Given the description of an element on the screen output the (x, y) to click on. 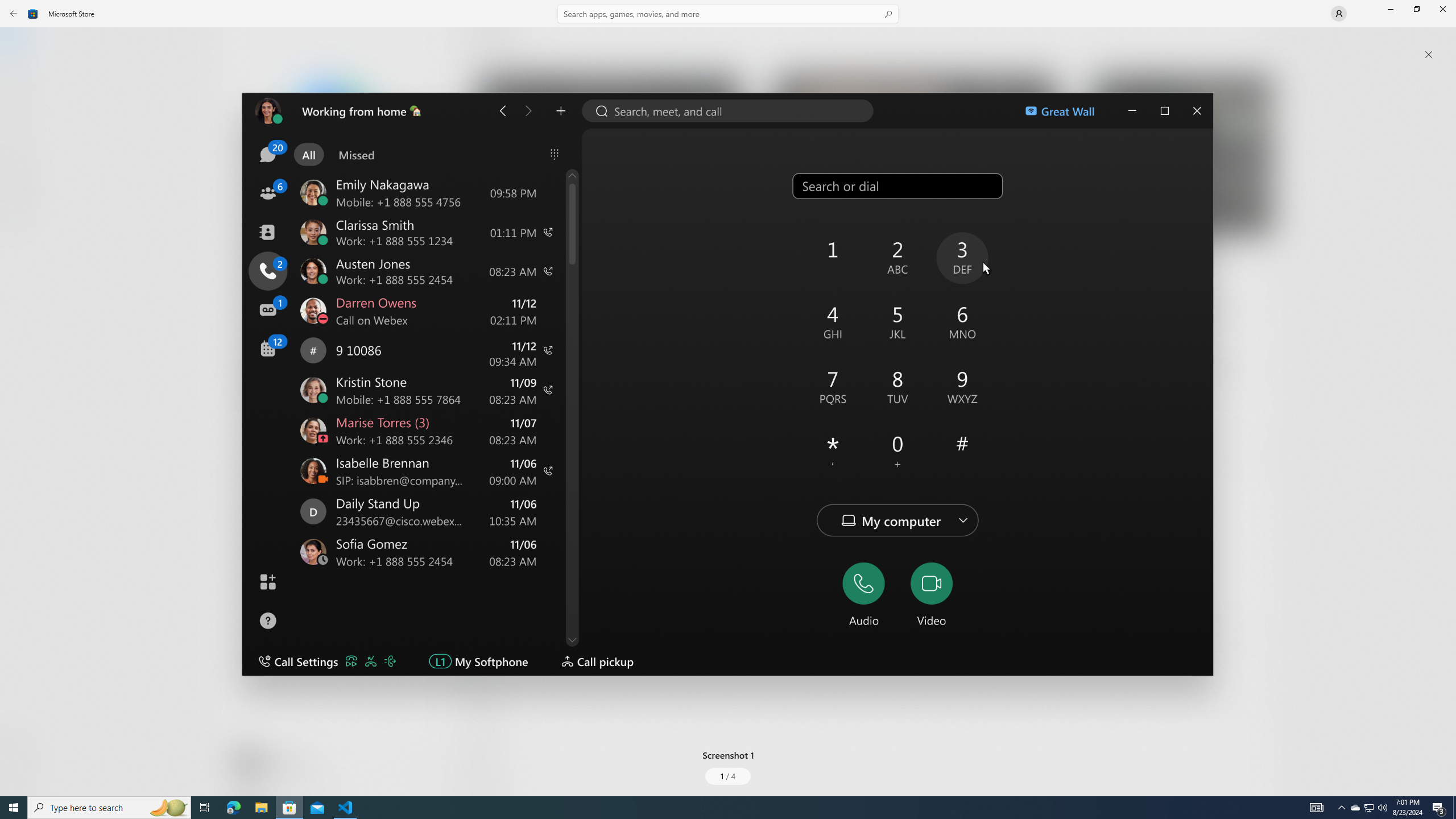
3.4 stars. Click to skip to ratings and reviews (307, 309)
Screenshot 1 (727, 403)
close popup window (1428, 54)
Screenshot 3 (1176, 158)
User profile (1338, 13)
Show all ratings and reviews (1253, 458)
Report review (1248, 636)
Productivity (329, 426)
Library (20, 773)
Cisco Systems. (383, 189)
Gaming (20, 115)
Yes, this was helpful. 34 votes. (1181, 636)
Restore Microsoft Store (1416, 9)
Home (20, 45)
